Given the description of an element on the screen output the (x, y) to click on. 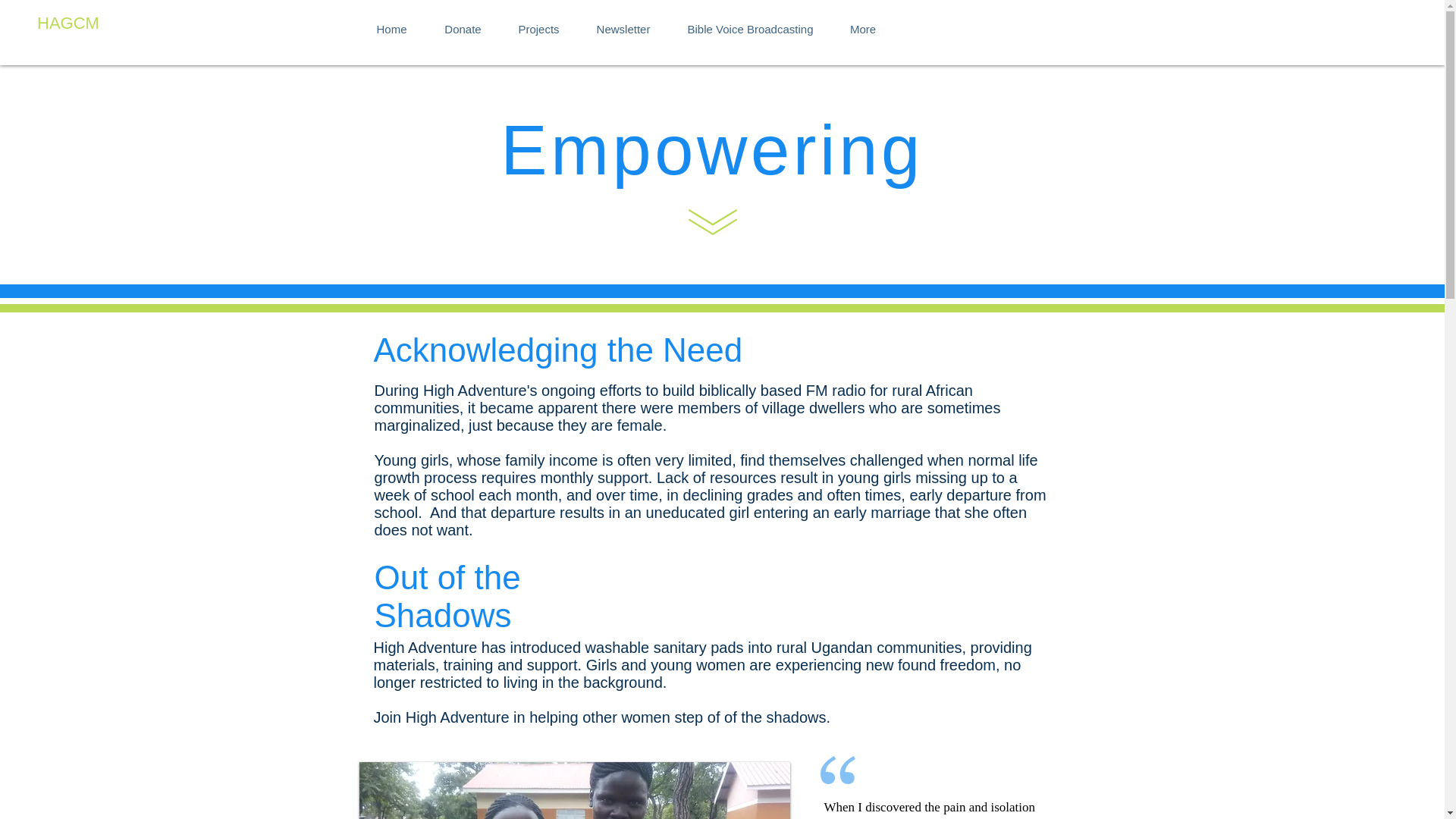
Facebook Like (1064, 11)
Newsletter (623, 22)
Bible Voice Broadcasting (749, 22)
Home (392, 22)
HAGCM (68, 23)
Donate (463, 22)
Projects (539, 22)
